Given the description of an element on the screen output the (x, y) to click on. 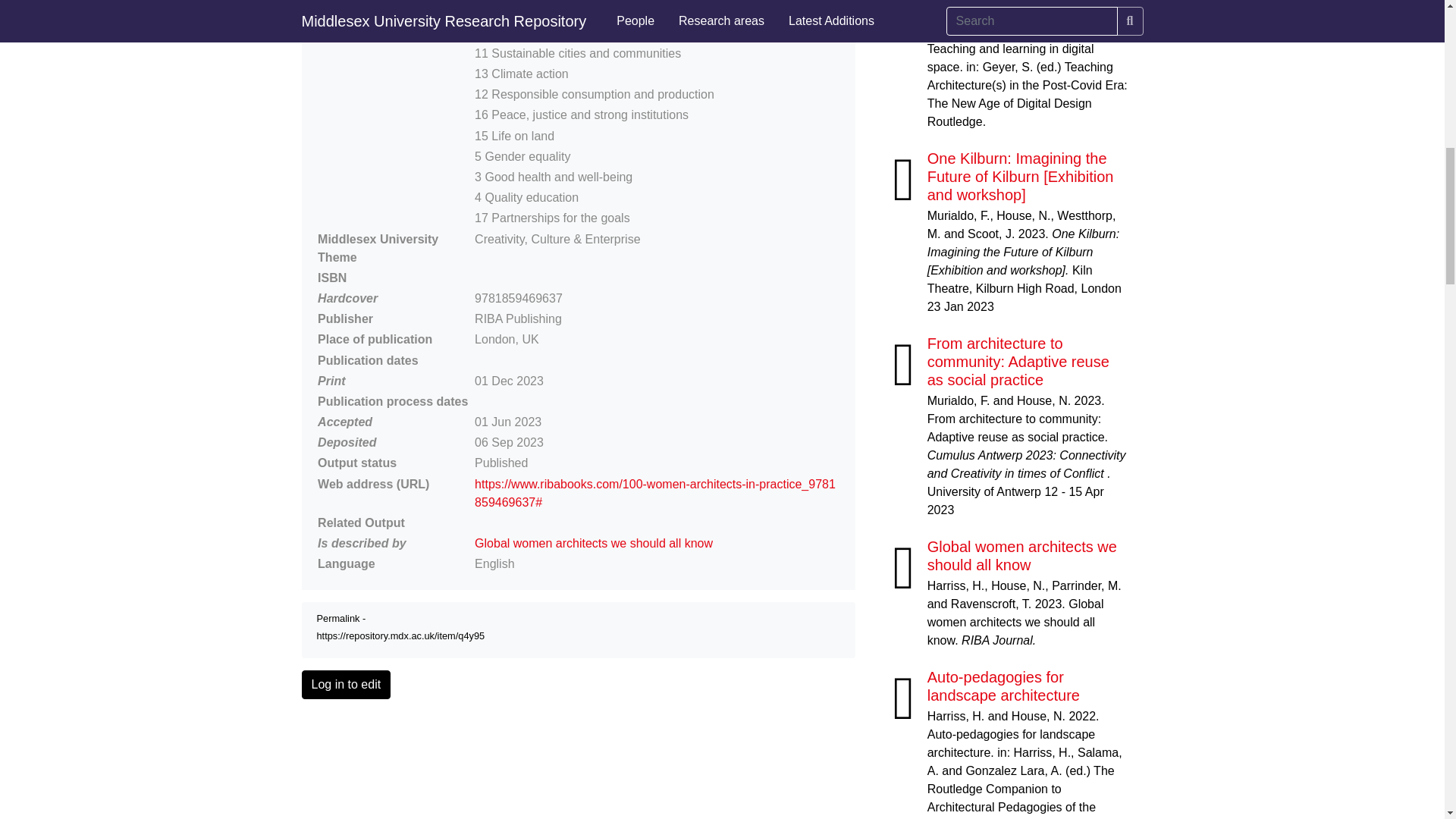
Auto-pedagogies for landscape architecture (1003, 686)
Global women architects we should all know (1021, 555)
Global women architects we should all know (593, 543)
Log in to edit (346, 684)
